Given the description of an element on the screen output the (x, y) to click on. 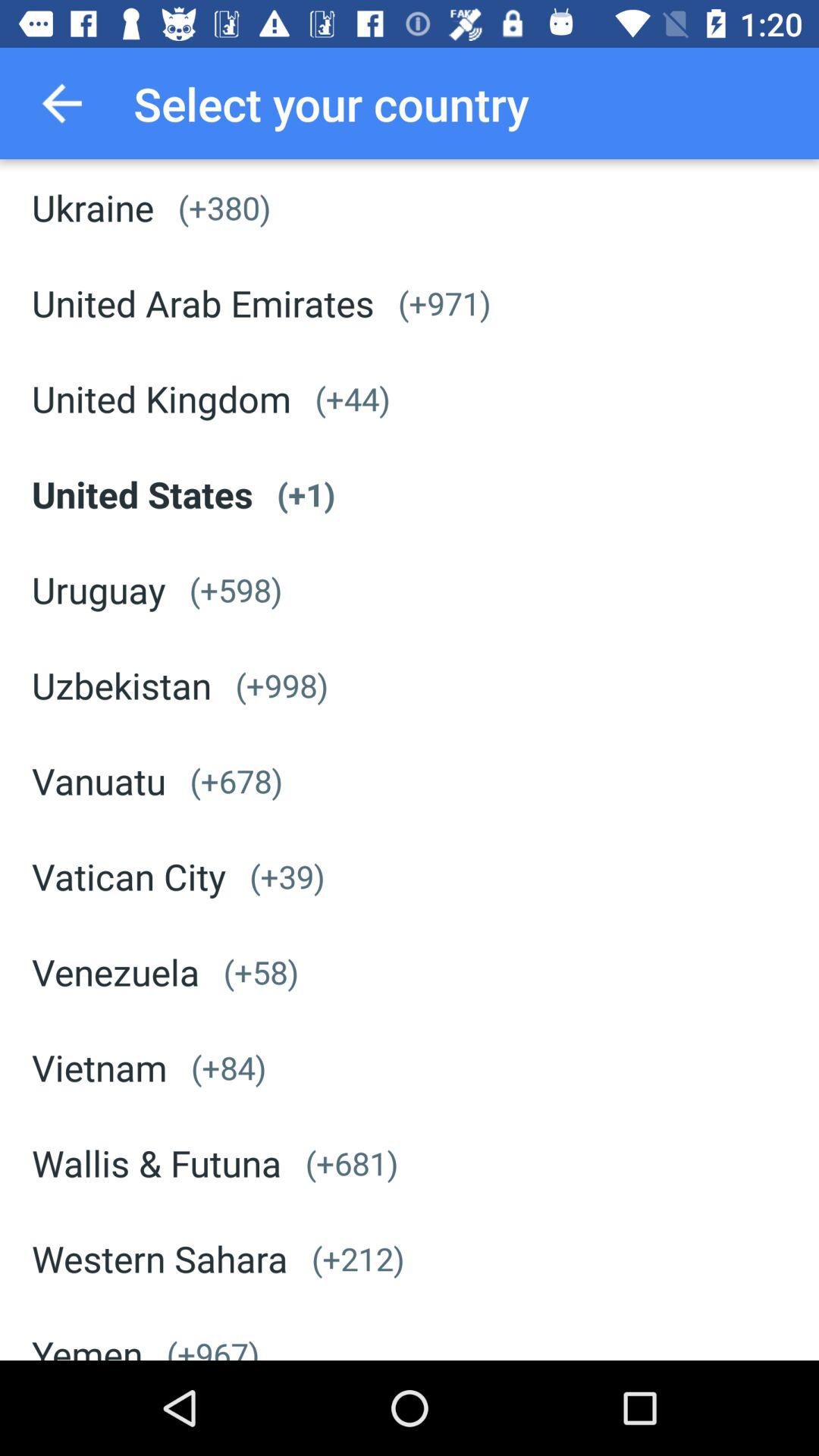
turn off the united arab emirates icon (202, 302)
